Given the description of an element on the screen output the (x, y) to click on. 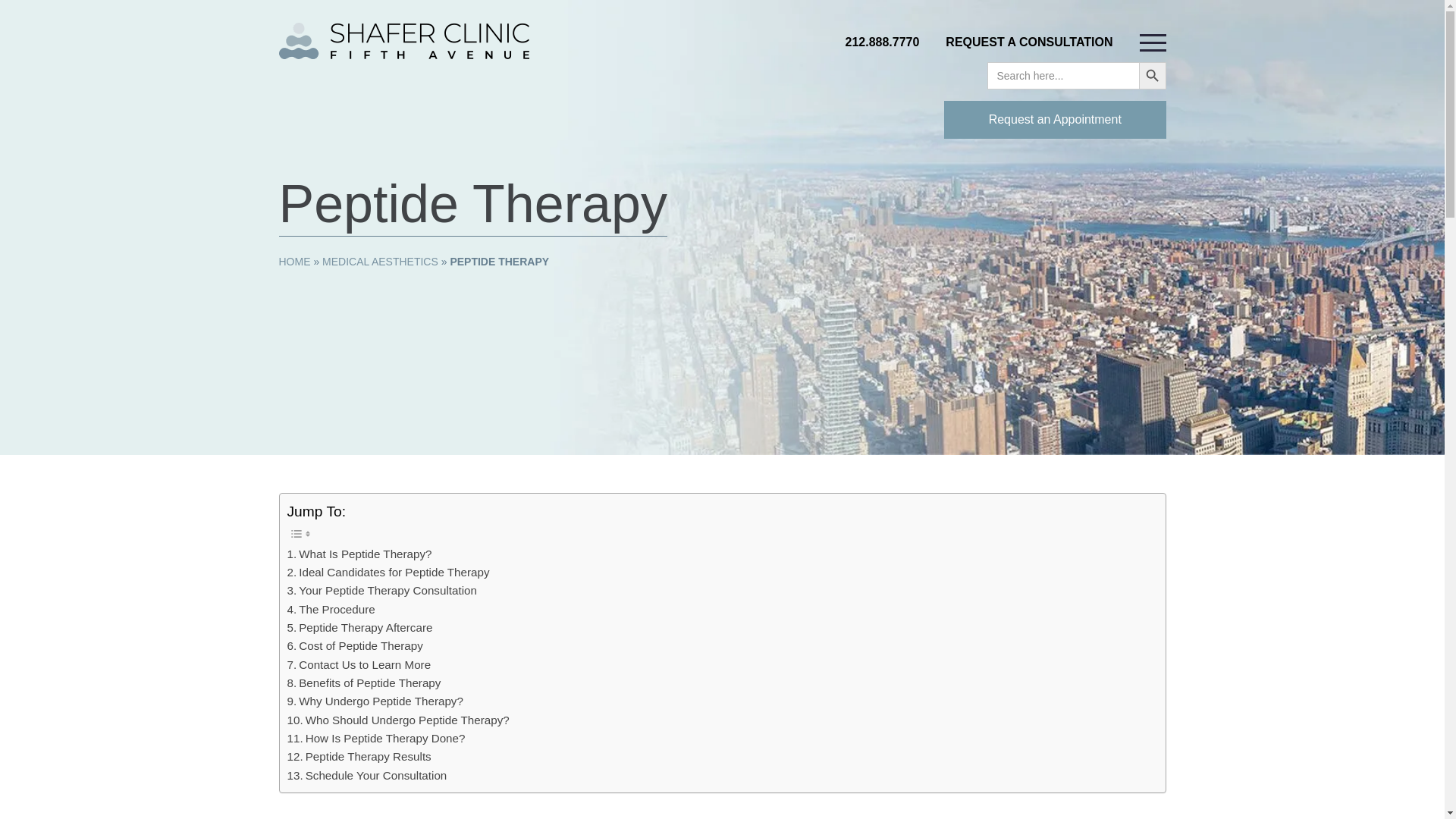
Who Should Undergo Peptide Therapy? (397, 720)
What Is Peptide Therapy? (358, 554)
The Procedure (330, 609)
Why Undergo Peptide Therapy? (374, 701)
Benefits of Peptide Therapy (363, 683)
How Is Peptide Therapy Done? (375, 738)
Your Peptide Therapy Consultation (381, 590)
Cost of Peptide Therapy (354, 646)
Peptide Therapy Aftercare (359, 628)
